Given the description of an element on the screen output the (x, y) to click on. 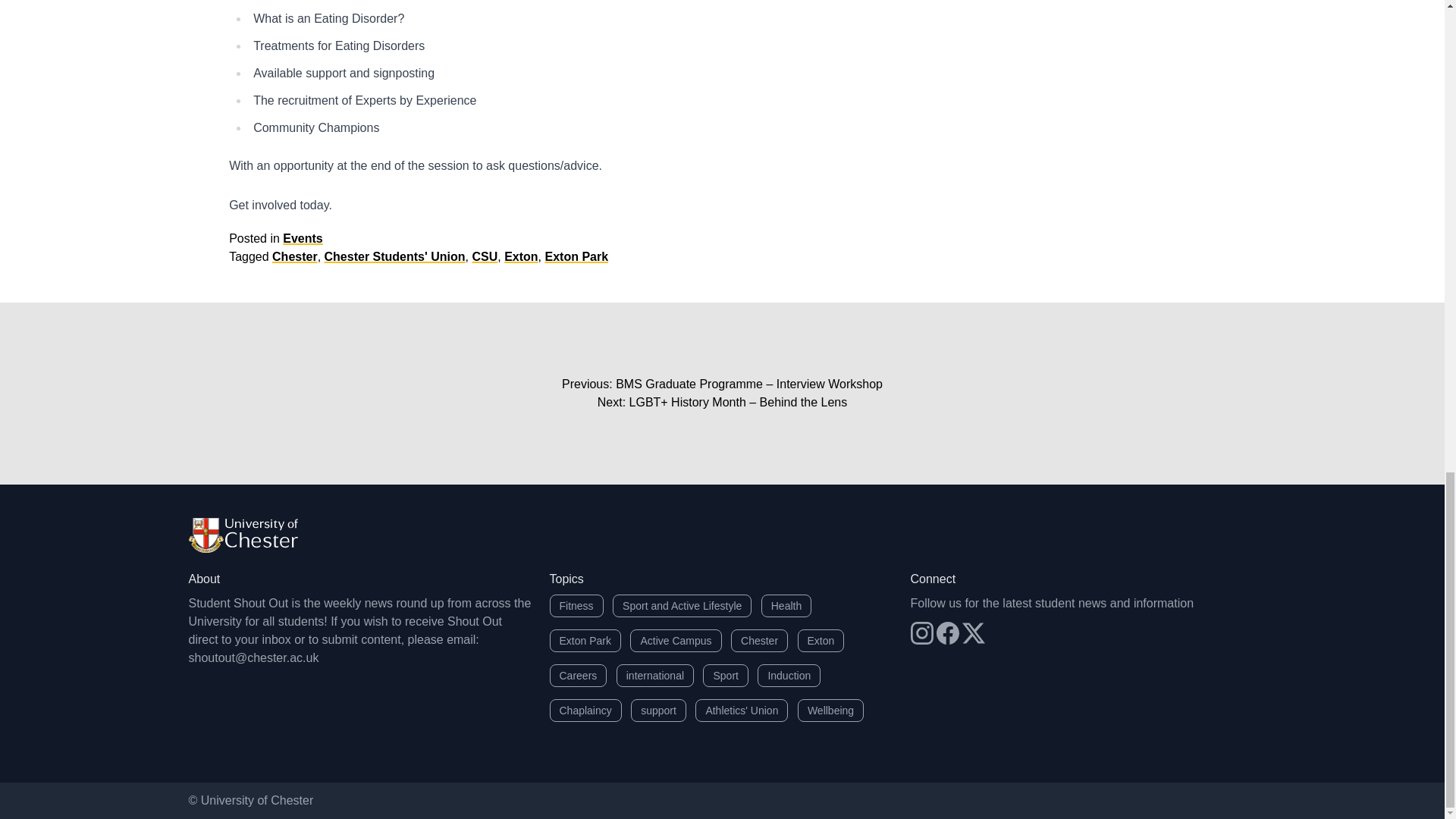
Health (785, 605)
support (657, 710)
Exton Park (576, 256)
Chaplaincy (584, 710)
Careers (577, 675)
Sport and Active Lifestyle (681, 605)
Chester Students' Union (394, 256)
Chester (758, 640)
Chester (294, 256)
Active Campus (675, 640)
